Given the description of an element on the screen output the (x, y) to click on. 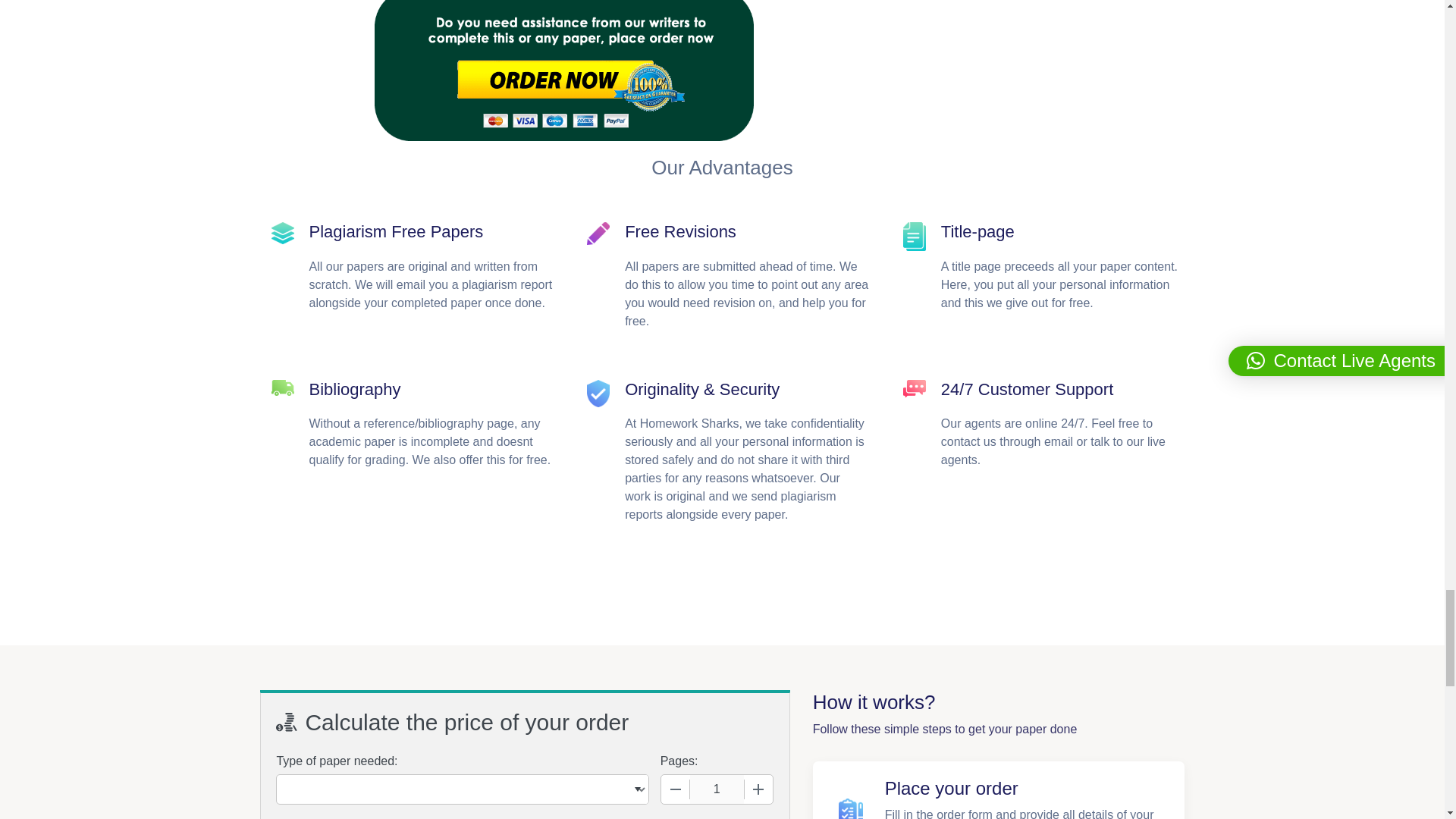
Decrease (675, 788)
1 (717, 788)
Increase (758, 788)
